Given the description of an element on the screen output the (x, y) to click on. 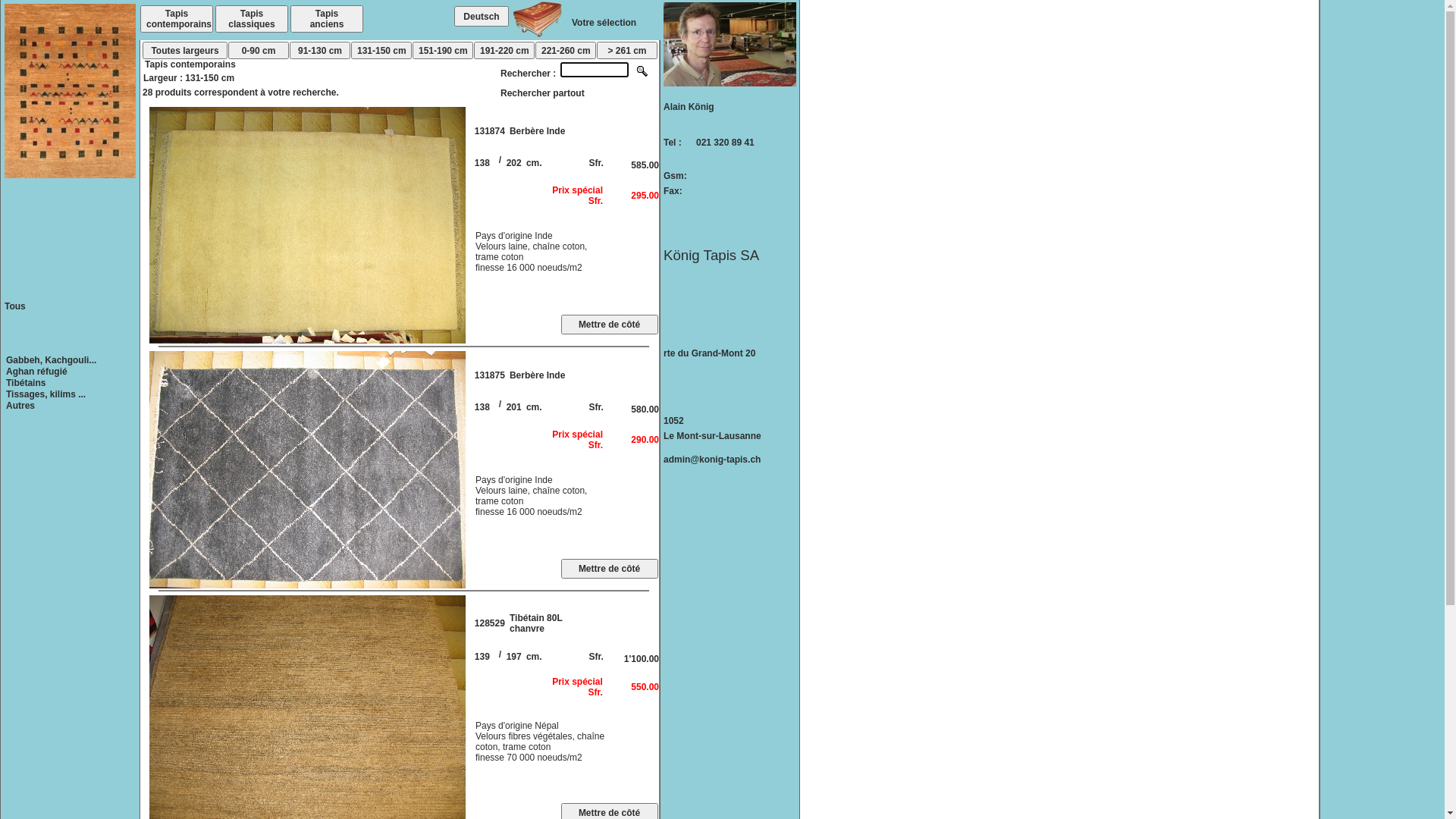
Tapis
classiques Element type: text (251, 18)
Votre chariot Element type: hover (537, 34)
91-130 cm Element type: text (319, 50)
> 261 cm Element type: text (626, 50)
221-260 cm Element type: text (565, 50)
Deutsch Element type: text (481, 16)
Tapis
anciens Element type: text (326, 18)
Autres Element type: text (20, 405)
Gabbeh, Kachgouli... Element type: text (51, 359)
Tissages, kilims ... Element type: text (45, 394)
Tapis
contemporains Element type: text (176, 18)
151-190 cm Element type: text (442, 50)
Rechercher partout Element type: text (542, 92)
Toutes largeurs Element type: text (184, 50)
131-150 cm Element type: text (381, 50)
Fournisseur Element type: text (609, 295)
0-90 cm Element type: text (258, 50)
Fournisseur Element type: text (609, 784)
Ajouter ce produit au caddie Element type: hover (609, 324)
Tous Element type: text (14, 306)
Fournisseur Element type: text (609, 539)
Ajouter ce produit au caddie Element type: hover (609, 568)
Rechercher Element type: hover (642, 77)
stockKTL Element type: text (693, 488)
191-220 cm Element type: text (503, 50)
